Given the description of an element on the screen output the (x, y) to click on. 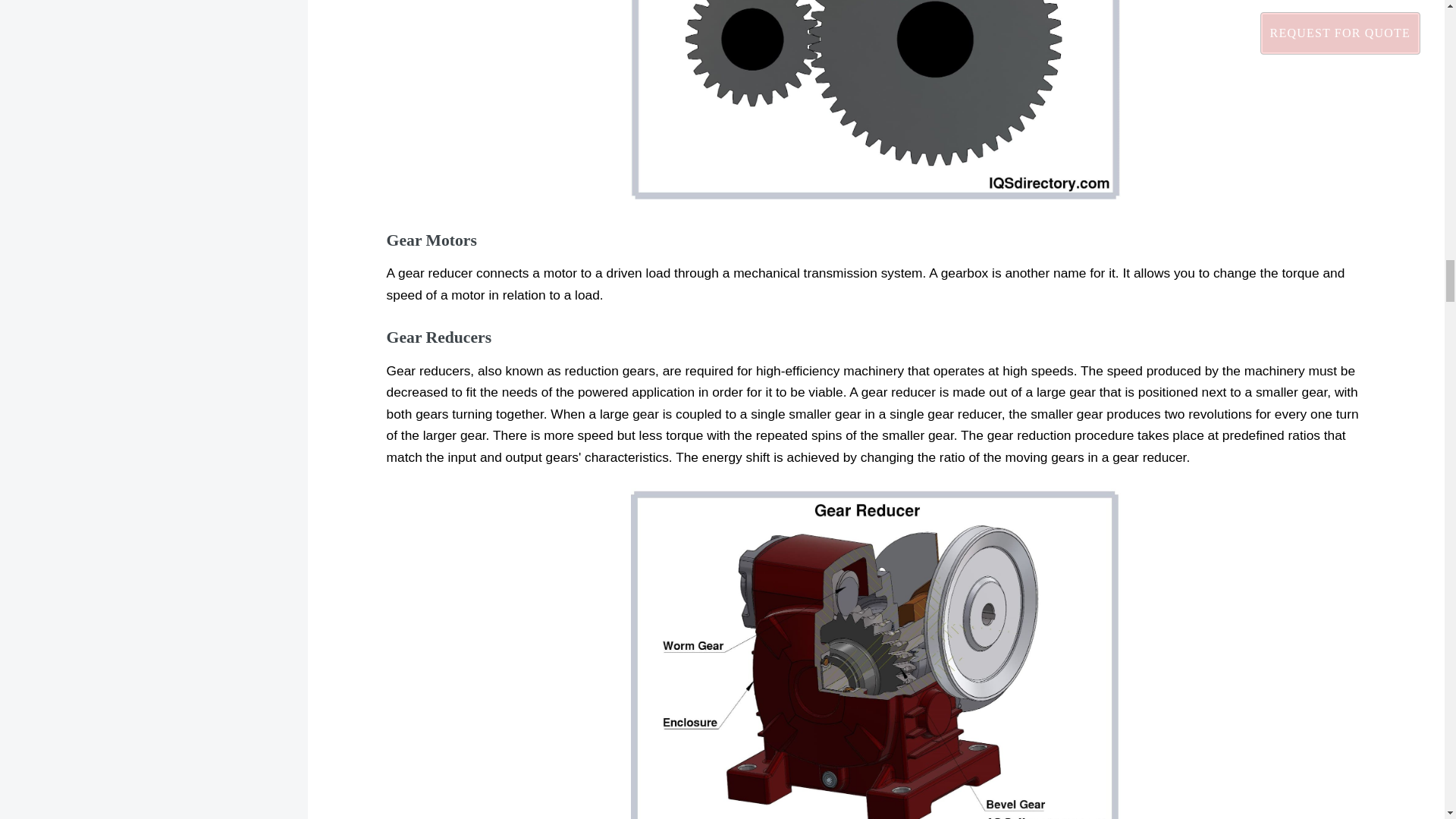
Gear Drive (875, 99)
